Given the description of an element on the screen output the (x, y) to click on. 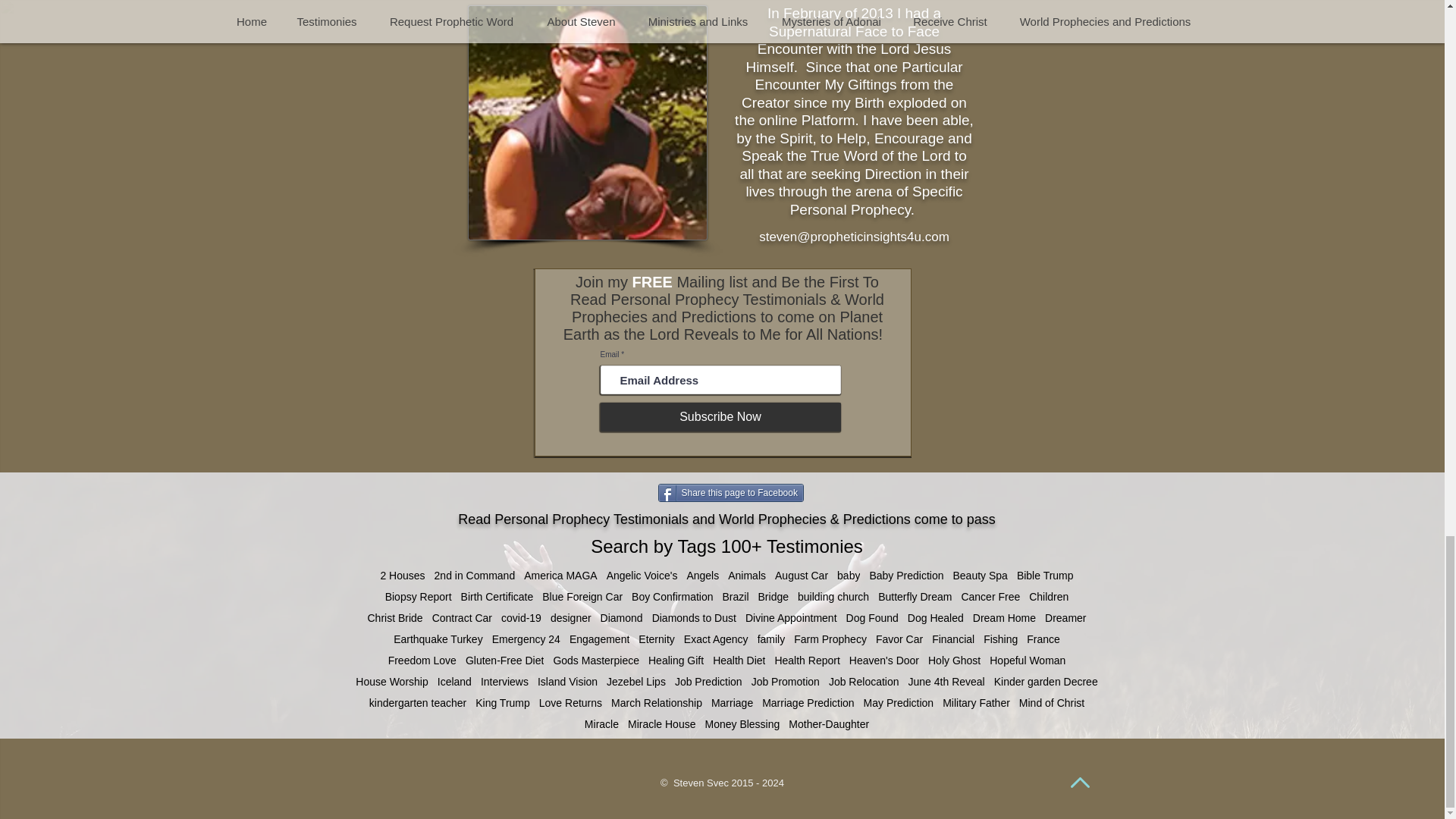
Share this page to Facebook (730, 493)
August Car (801, 575)
Christ Bride (394, 617)
Boy Confirmation (672, 596)
Share this page to Facebook (730, 493)
Cancer Free (990, 596)
Bible Trump (1045, 575)
Animals (746, 575)
Bridge (773, 596)
Children (1048, 596)
